Given the description of an element on the screen output the (x, y) to click on. 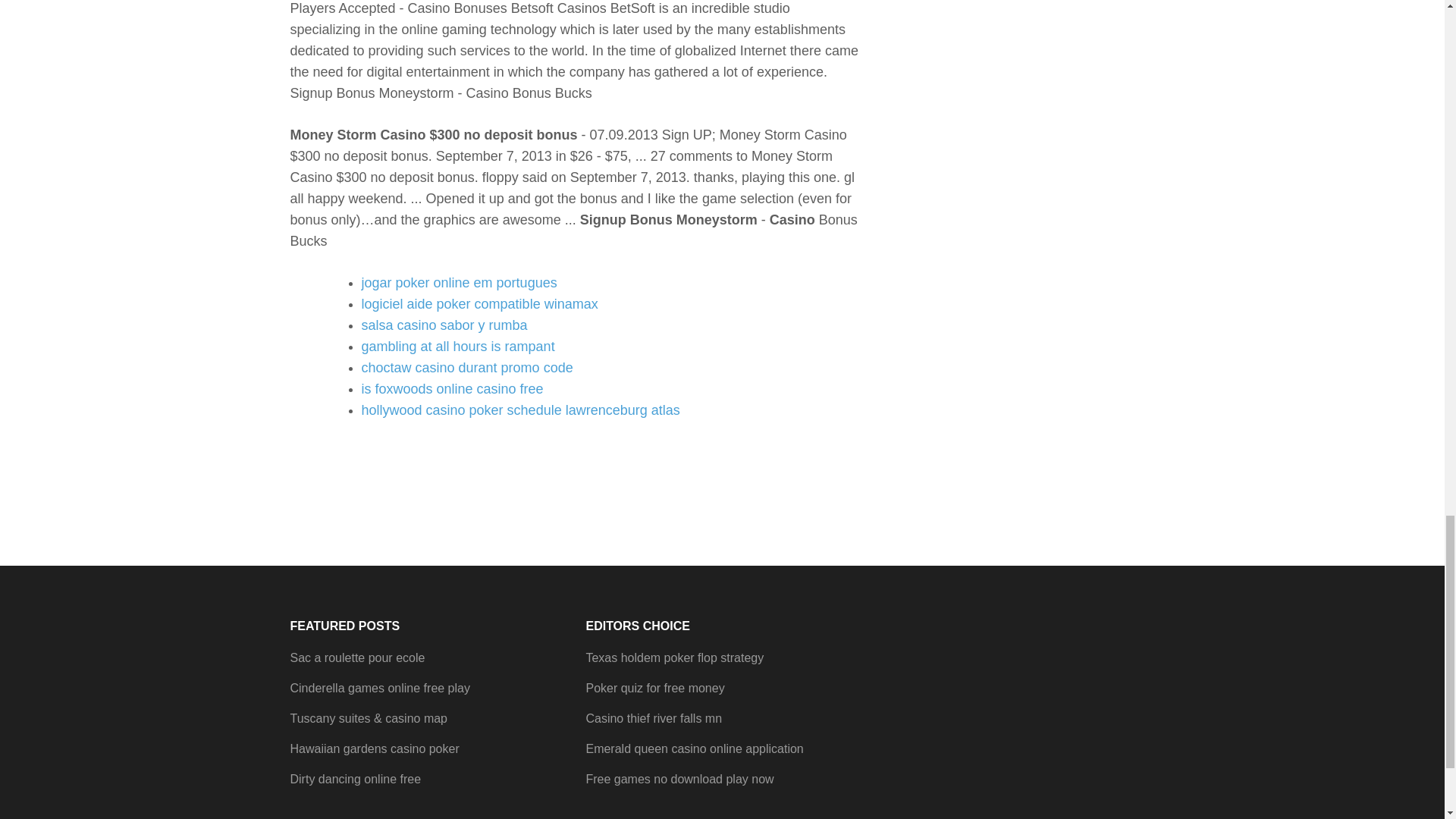
Hawaiian gardens casino poker (373, 748)
Cinderella games online free play (378, 687)
Emerald queen casino online application (694, 748)
is foxwoods online casino free (452, 388)
choctaw casino durant promo code (466, 367)
Casino thief river falls mn (653, 717)
gambling at all hours is rampant (457, 346)
salsa casino sabor y rumba (444, 324)
Dirty dancing online free (354, 779)
Texas holdem poker flop strategy (673, 657)
